Given the description of an element on the screen output the (x, y) to click on. 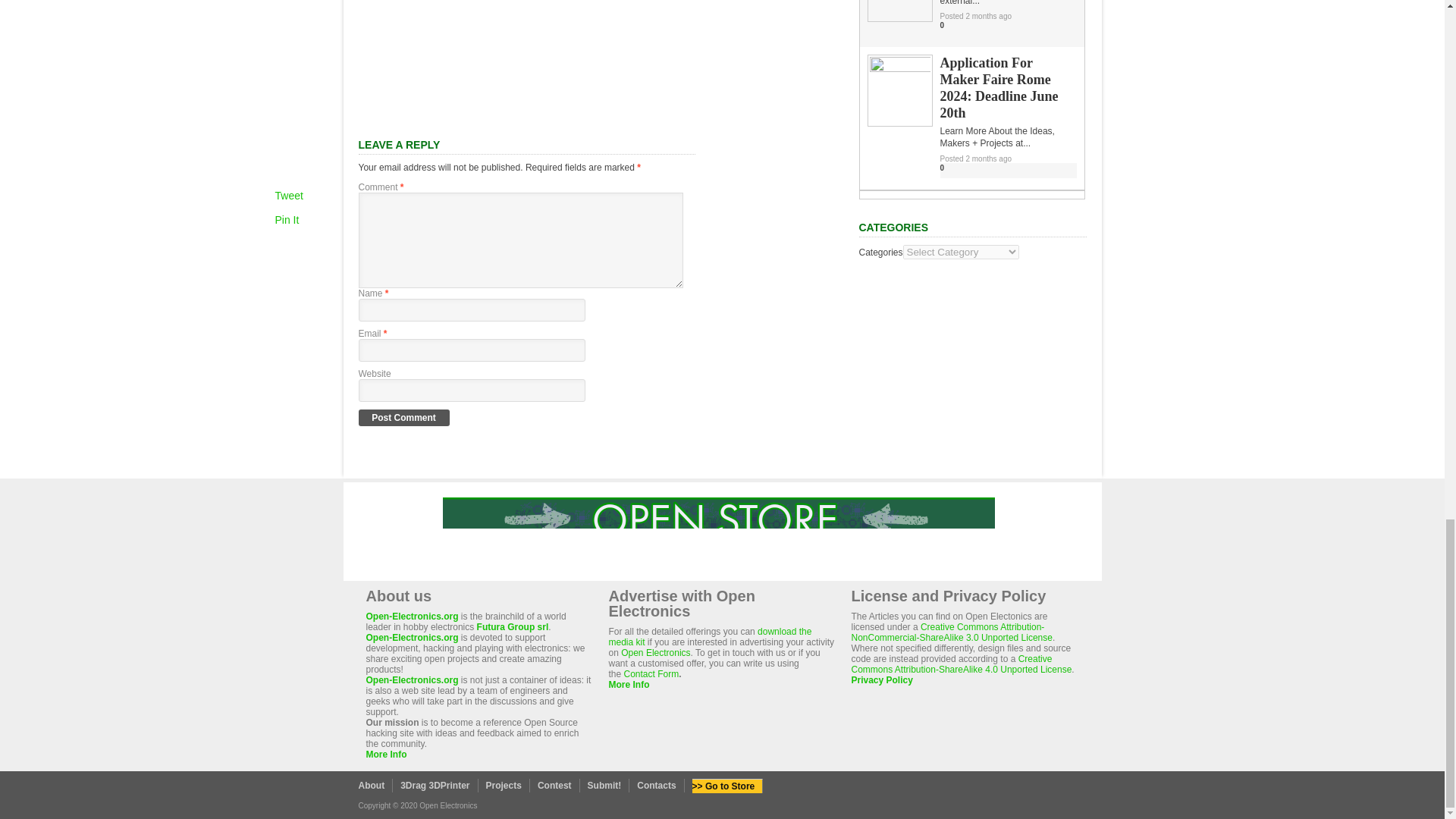
Post Comment (403, 417)
